Given the description of an element on the screen output the (x, y) to click on. 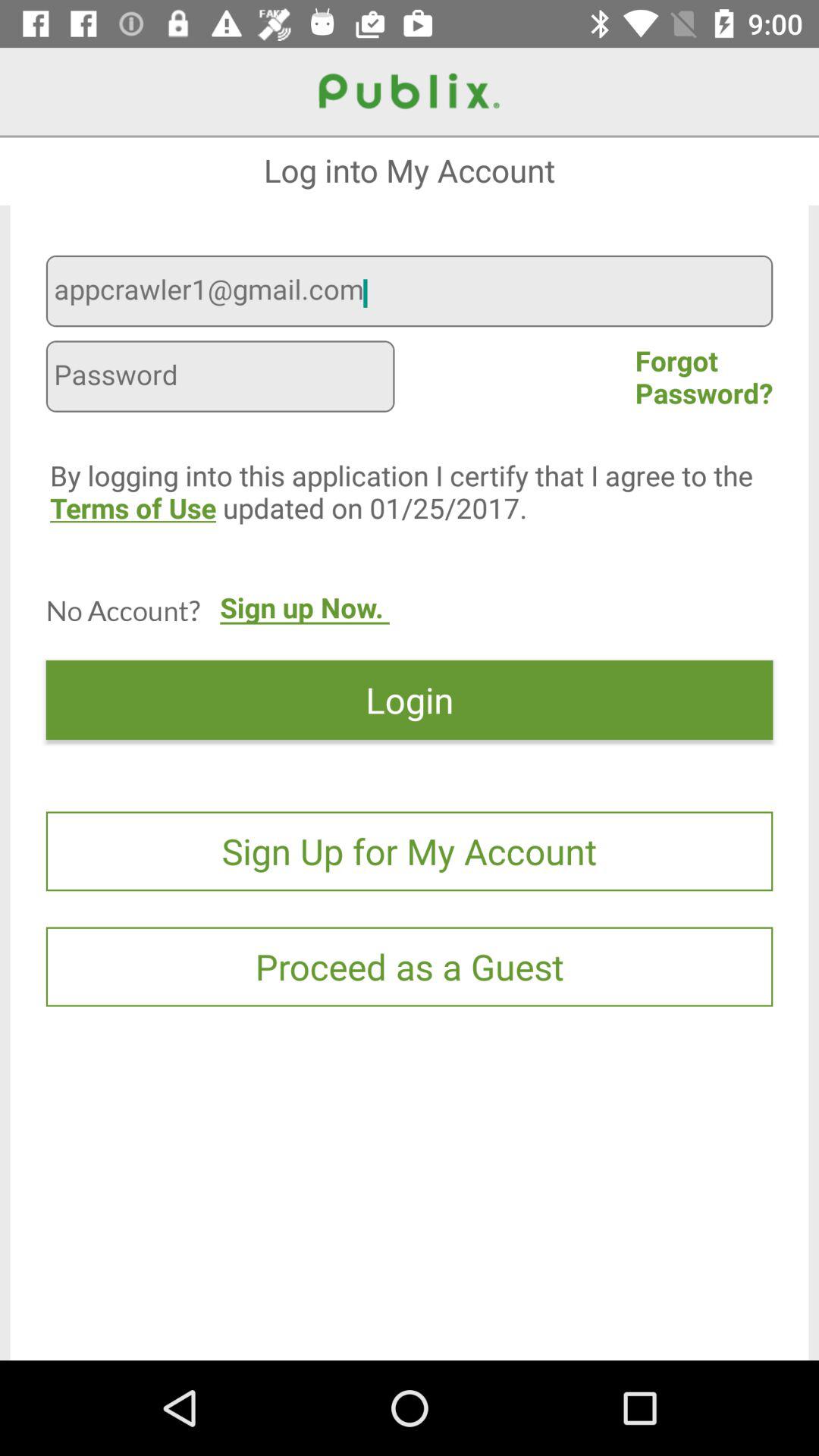
swipe to the appcrawler1@gmail.com icon (409, 293)
